Given the description of an element on the screen output the (x, y) to click on. 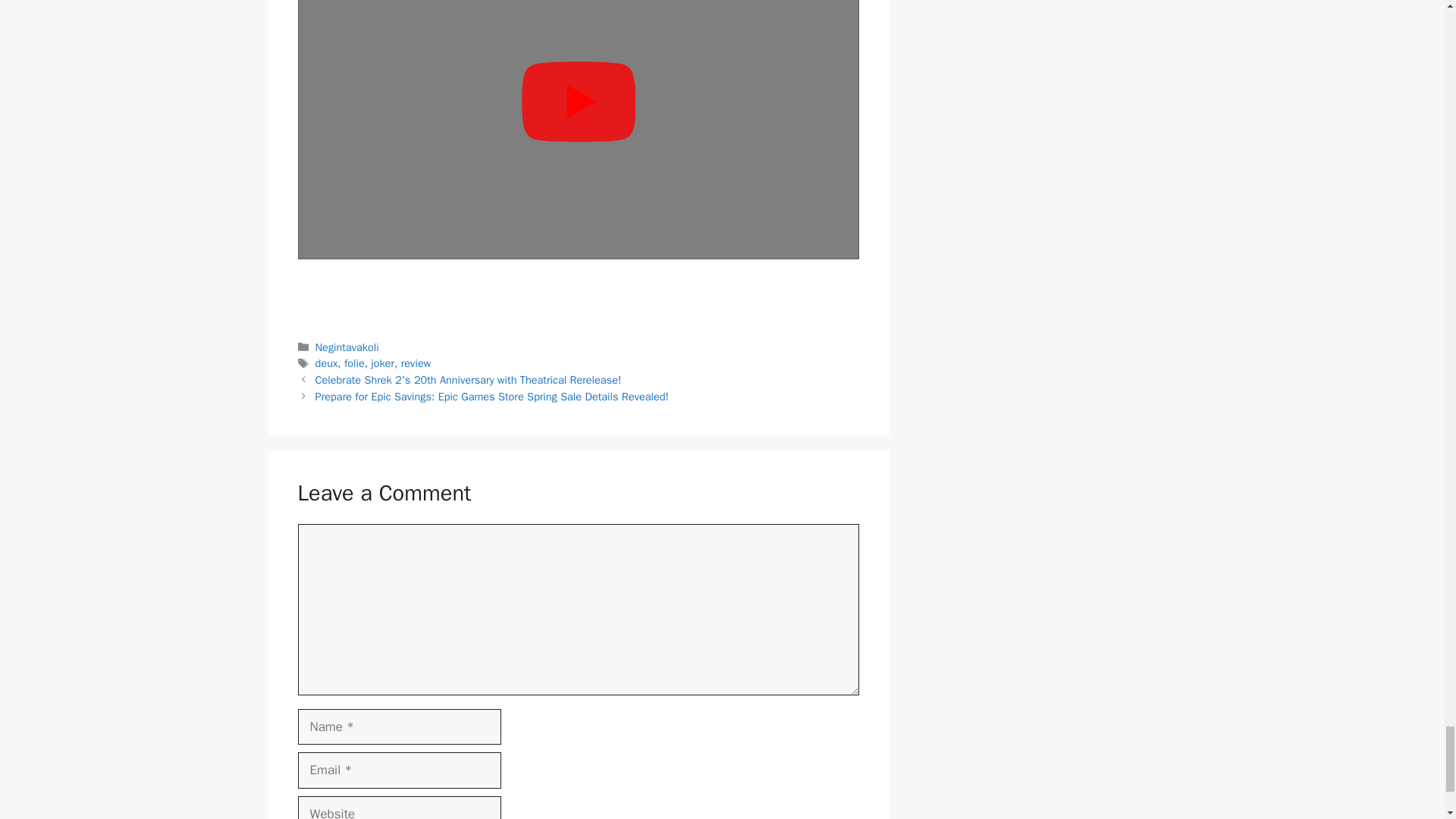
review (415, 363)
deux (326, 363)
Negintavakoli (346, 346)
joker (382, 363)
folie (354, 363)
